Given the description of an element on the screen output the (x, y) to click on. 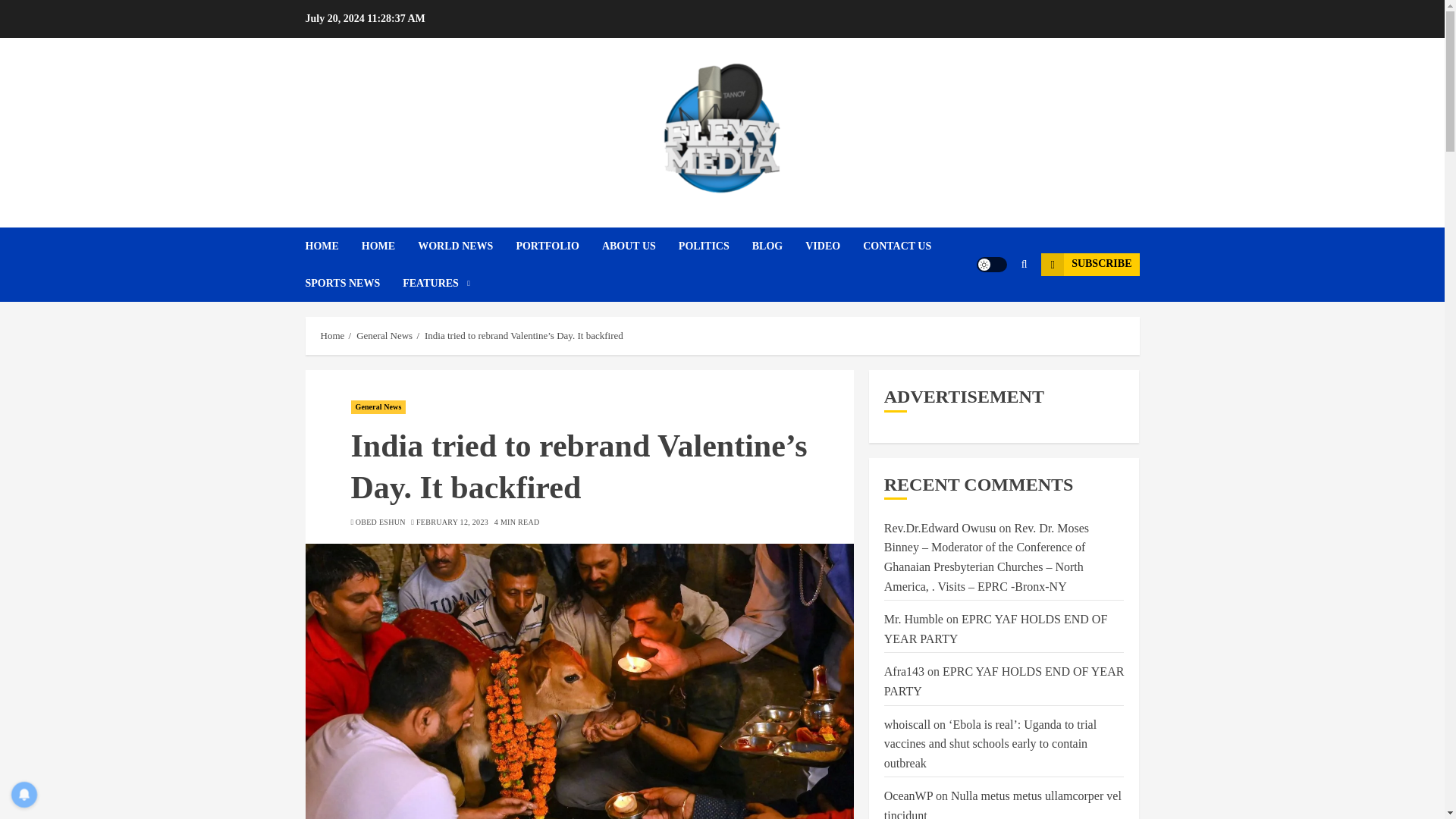
Home (331, 336)
SPORTS NEWS (353, 283)
HOME (389, 245)
ABOUT US (640, 245)
VIDEO (834, 245)
POLITICS (715, 245)
FEATURES (436, 283)
BLOG (778, 245)
PORTFOLIO (558, 245)
General News (378, 407)
SUBSCRIBE (1089, 264)
Search (994, 309)
FEBRUARY 12, 2023 (451, 521)
OBED ESHUN (380, 521)
General News (384, 336)
